Given the description of an element on the screen output the (x, y) to click on. 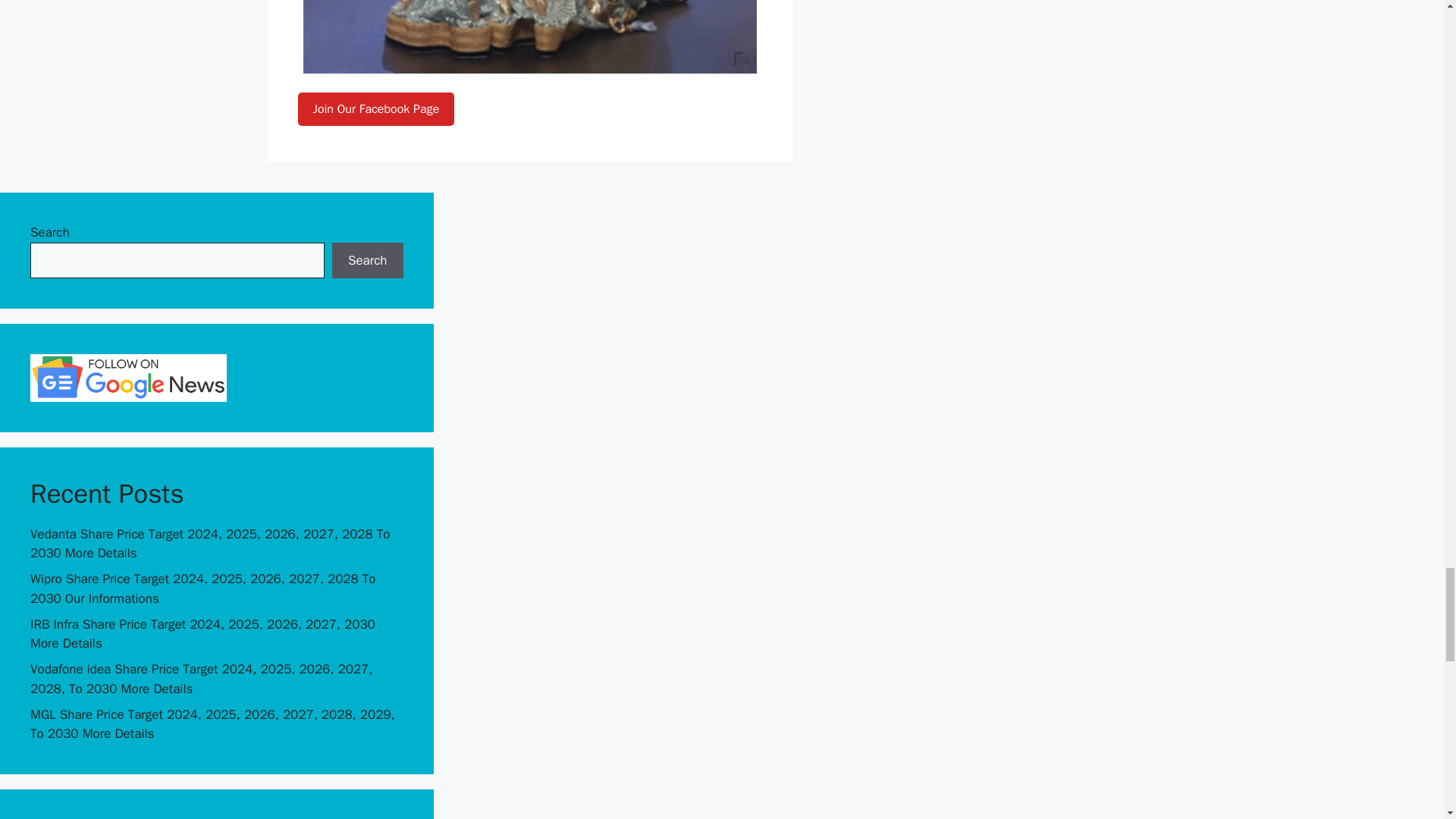
Join Our Facebook Page (375, 108)
Join Our Facebook Page (375, 109)
Search (367, 260)
